Given the description of an element on the screen output the (x, y) to click on. 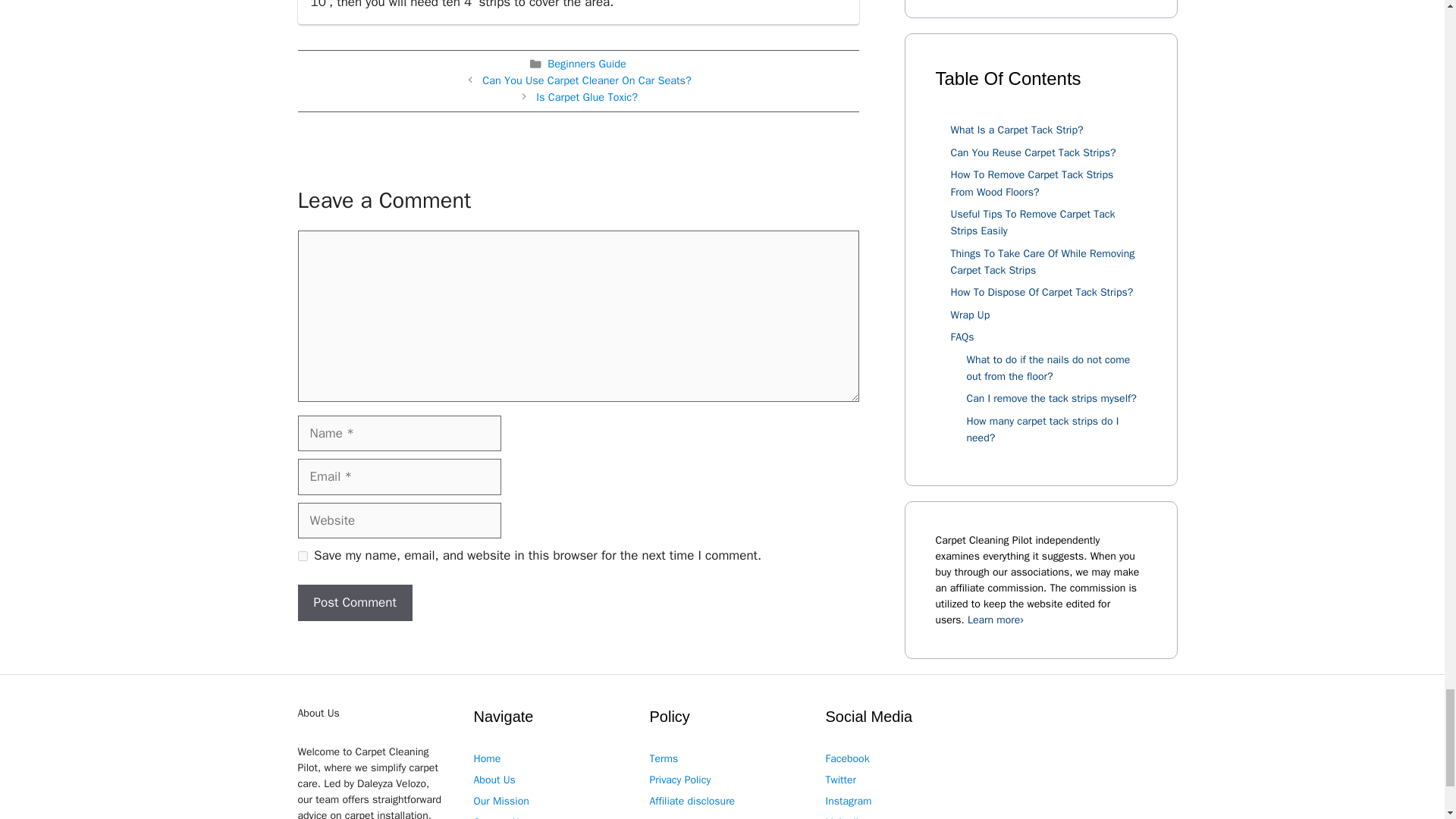
Contact Us (498, 817)
Can You Use Carpet Cleaner On Car Seats? (586, 79)
Post Comment (354, 602)
Is Carpet Glue Toxic? (586, 97)
Beginners Guide (586, 63)
Post Comment (354, 602)
Terms (663, 758)
yes (302, 556)
Home (486, 758)
Our Mission (500, 800)
